Given the description of an element on the screen output the (x, y) to click on. 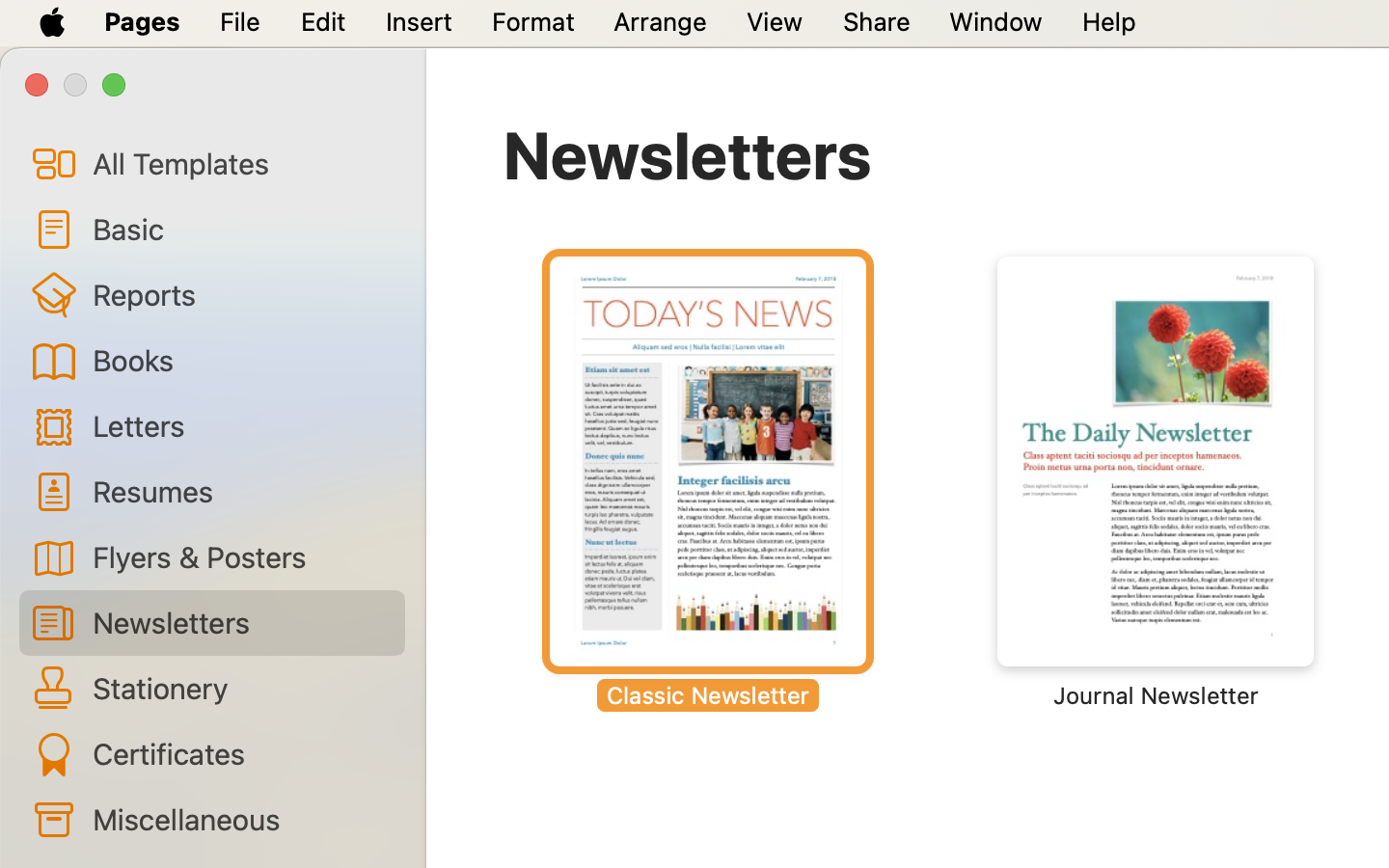
All Templates Element type: AXStaticText (240, 162)
Miscellaneous Element type: AXStaticText (240, 818)
Basic Element type: AXStaticText (240, 228)
Resumes Element type: AXStaticText (240, 490)
Newsletters Element type: AXStaticText (687, 153)
